Given the description of an element on the screen output the (x, y) to click on. 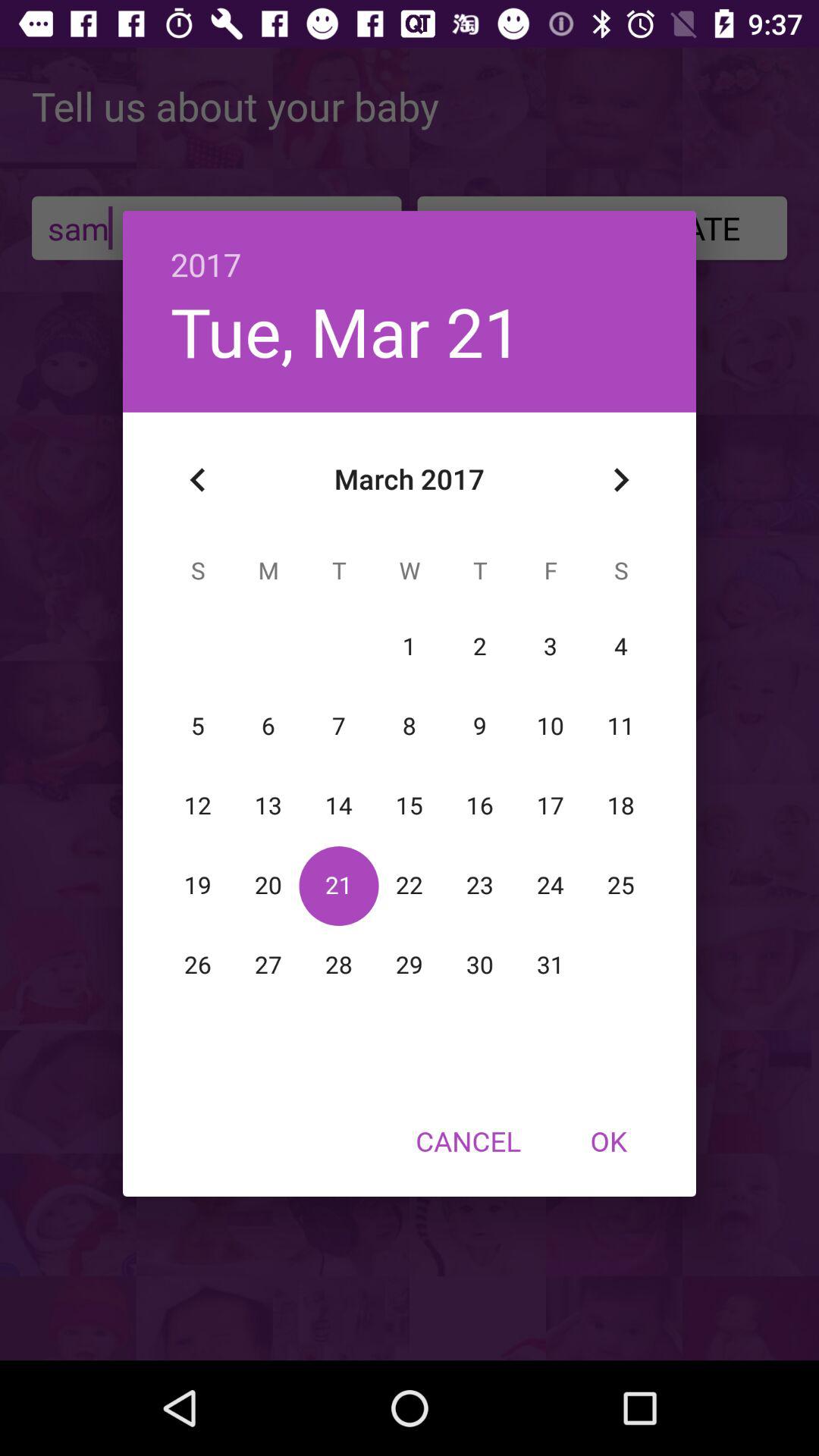
launch the item below the 2017 item (620, 479)
